Given the description of an element on the screen output the (x, y) to click on. 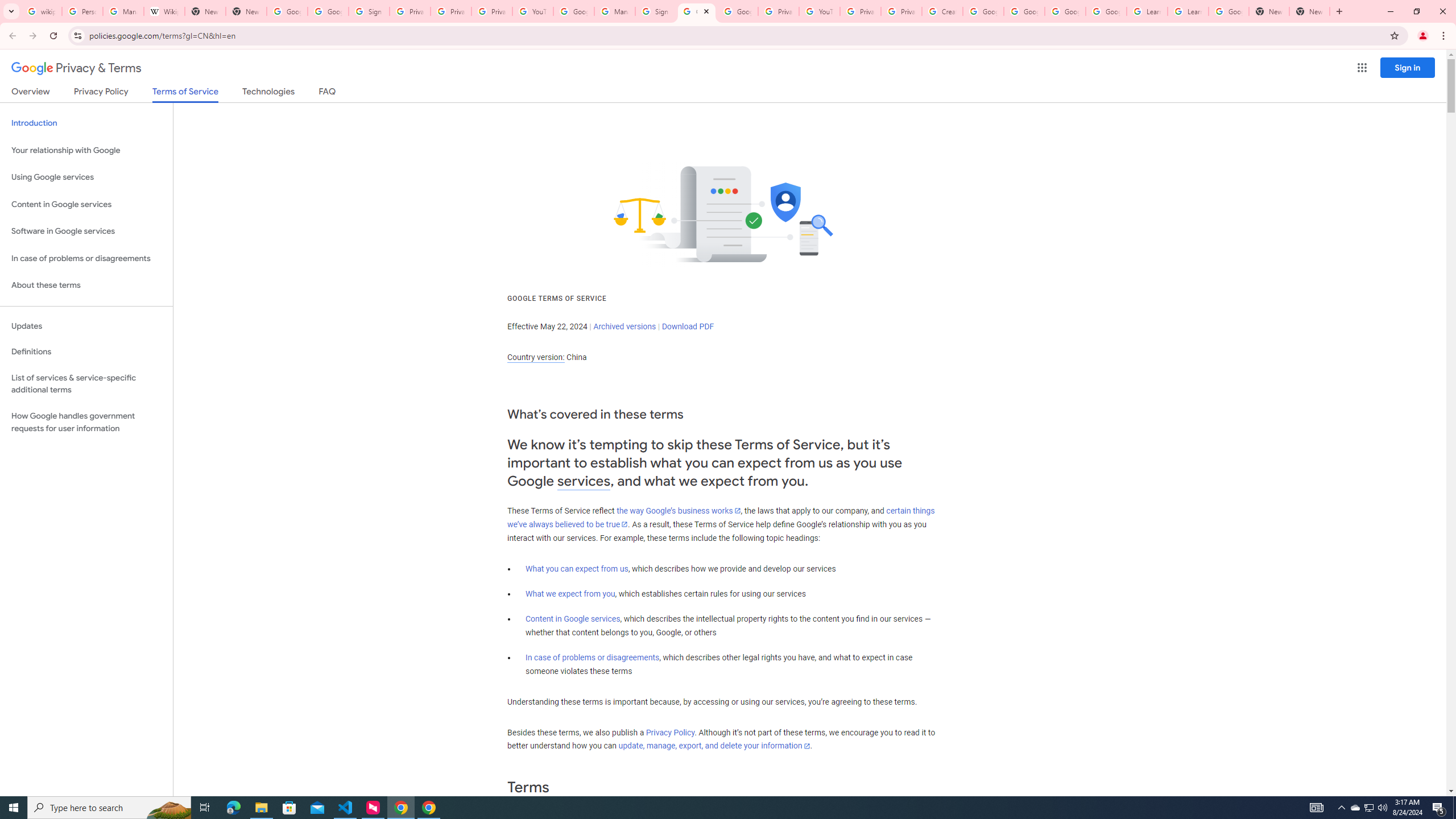
Google Account Help (983, 11)
